Given the description of an element on the screen output the (x, y) to click on. 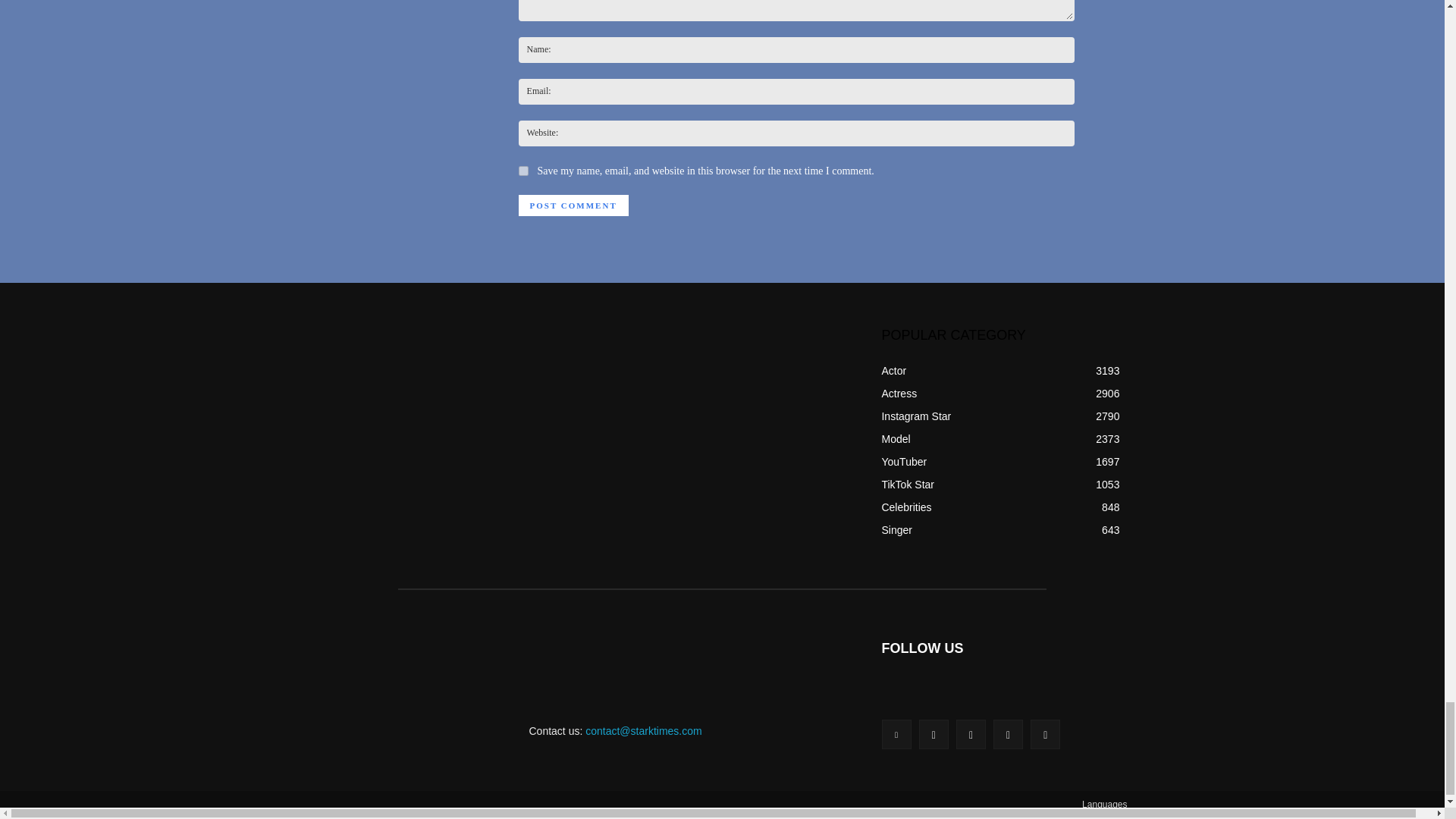
yes (523, 171)
Post Comment (573, 205)
